Given the description of an element on the screen output the (x, y) to click on. 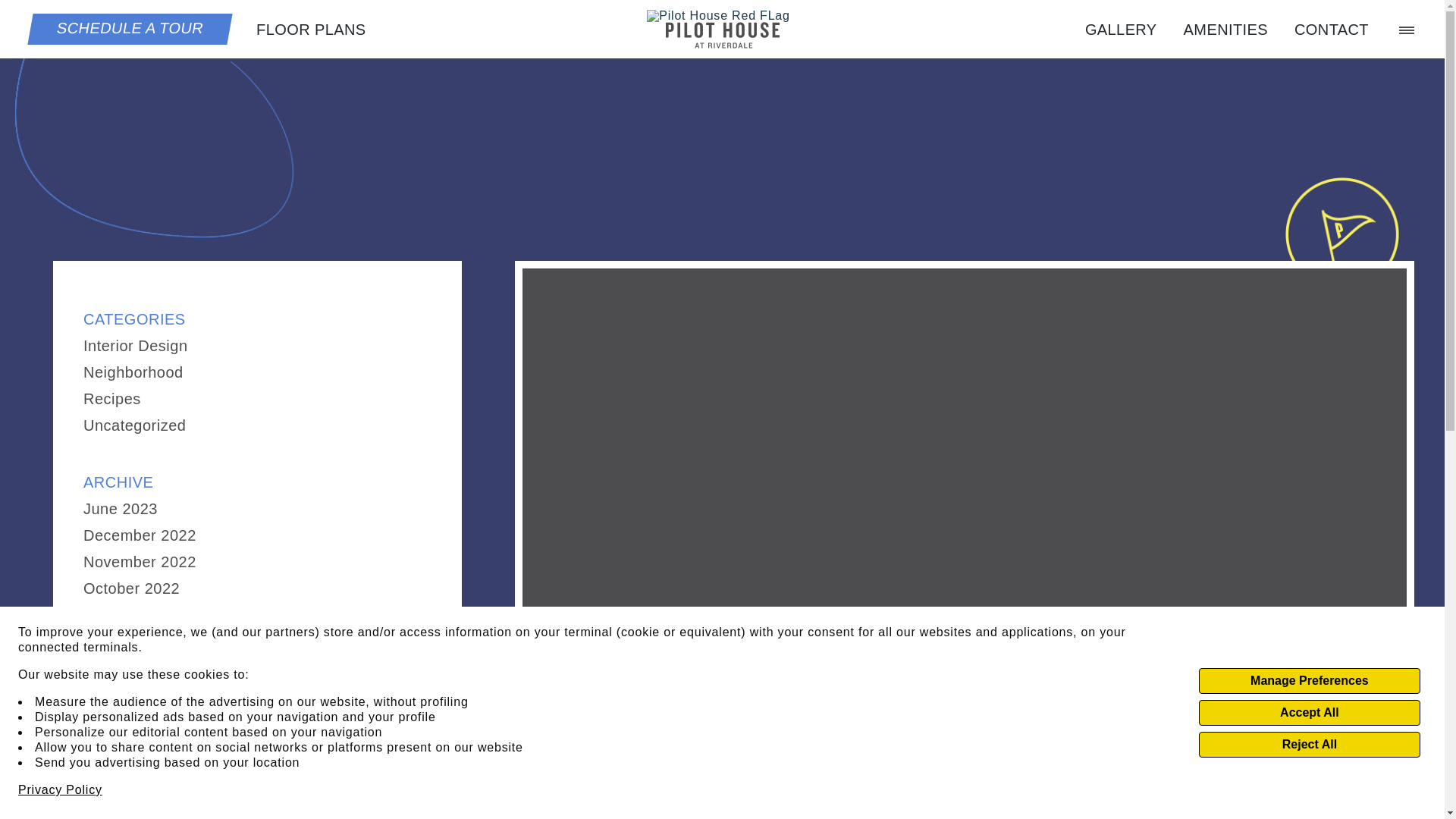
June 2023 (119, 508)
Uncategorized (134, 425)
June 2022 (119, 694)
Privacy Policy (59, 789)
Interior Design (134, 345)
Reject All (1309, 744)
September 2022 (141, 614)
December 2022 (139, 535)
July 2022 (116, 668)
AMENITIES (1225, 28)
August 2022 (127, 641)
FLOOR PLANS (310, 28)
November 2022 (139, 561)
Neighborhood (132, 371)
October 2022 (130, 588)
